Given the description of an element on the screen output the (x, y) to click on. 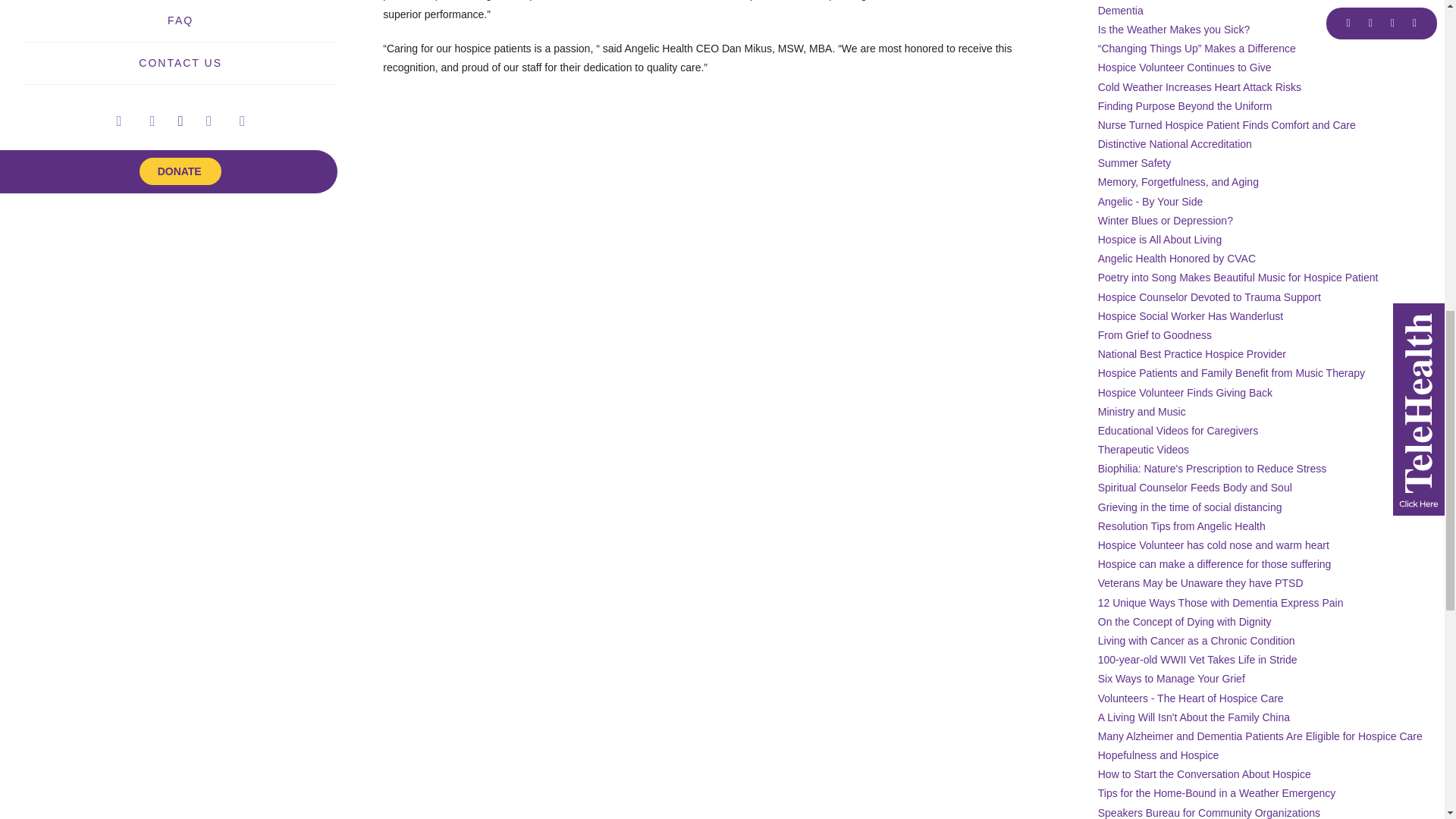
FAQ (180, 20)
CONTACT US (180, 62)
